Given the description of an element on the screen output the (x, y) to click on. 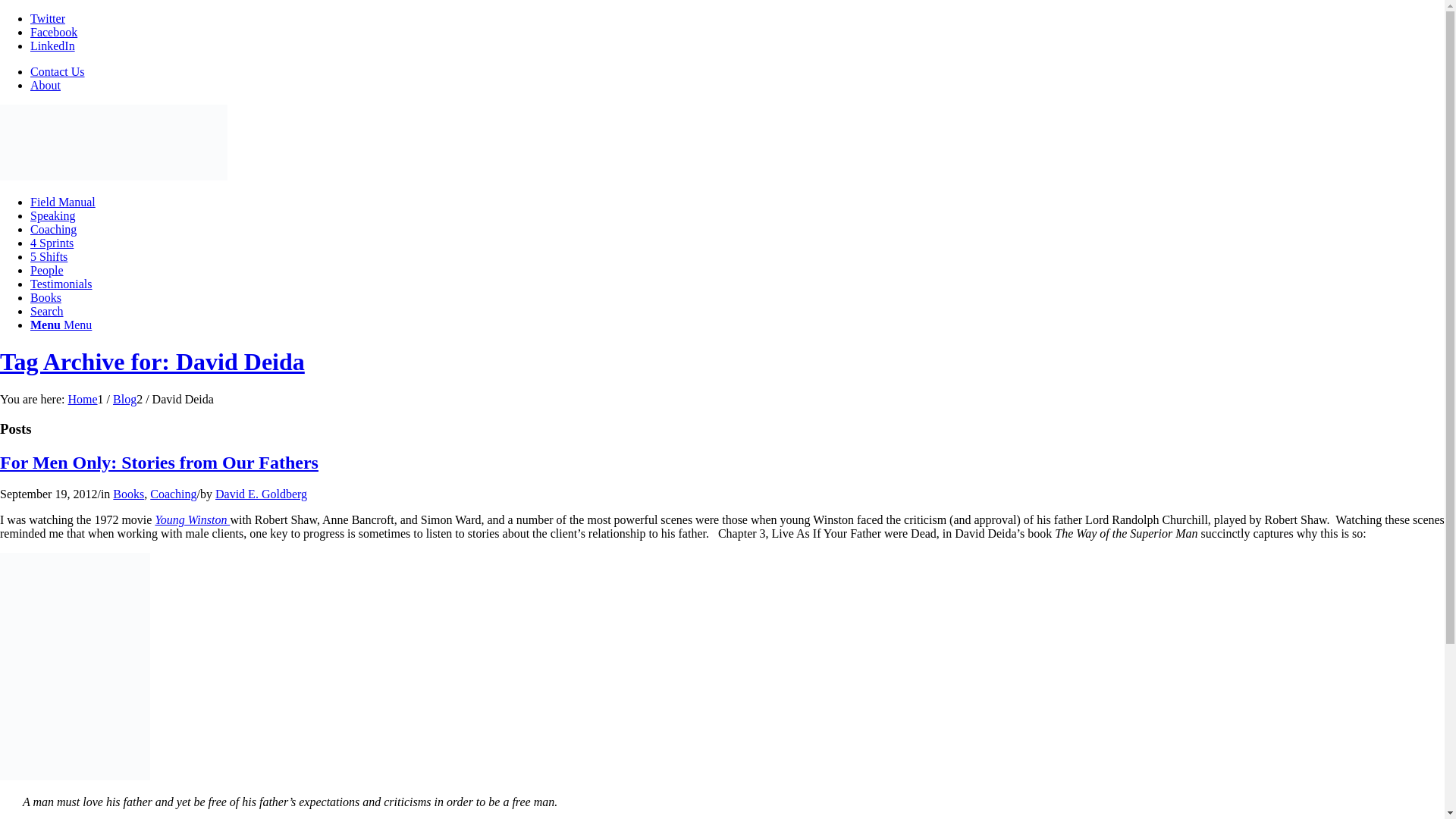
Speaking (52, 215)
Posts by David E. Goldberg (261, 493)
Blog (124, 399)
Coaching (53, 228)
Young Winston (192, 519)
Permanent Link: Tag Archive for: David Deida (152, 361)
David E. Goldberg (261, 493)
Books (45, 297)
Testimonials (61, 283)
Tag Archive for: David Deida (152, 361)
Twitter (47, 18)
Facebook (53, 31)
Permanent Link: For Men Only: Stories from Our Fathers (159, 461)
Twitter (47, 18)
LinkedIn (52, 45)
